Given the description of an element on the screen output the (x, y) to click on. 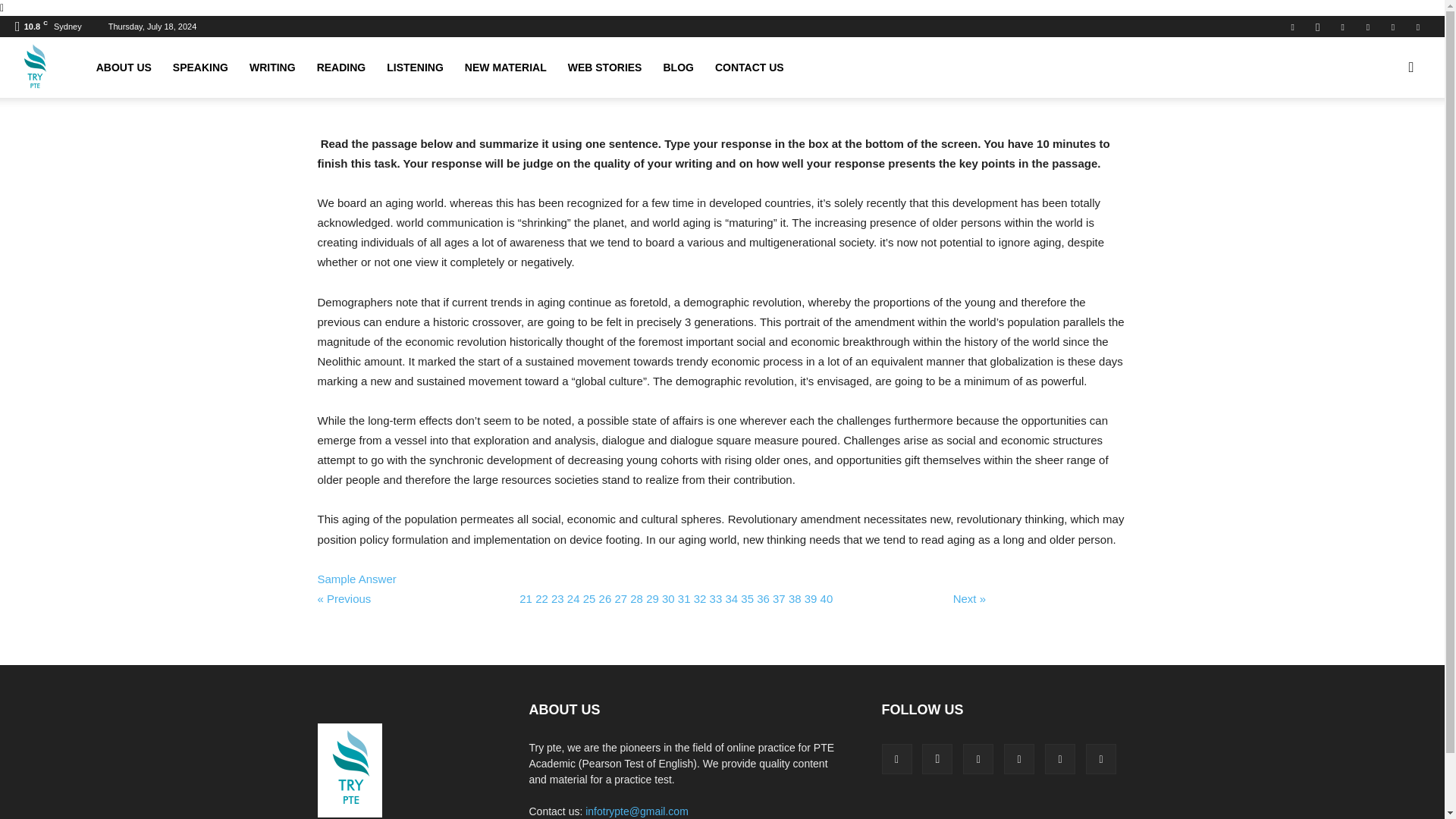
Facebook (1292, 25)
Facebook (895, 758)
Linkedin (977, 758)
Linkedin (1343, 25)
Youtube (1417, 25)
Instagram (1317, 25)
Telegram (1367, 25)
Instagram (936, 758)
Twitter (1393, 25)
